Given the description of an element on the screen output the (x, y) to click on. 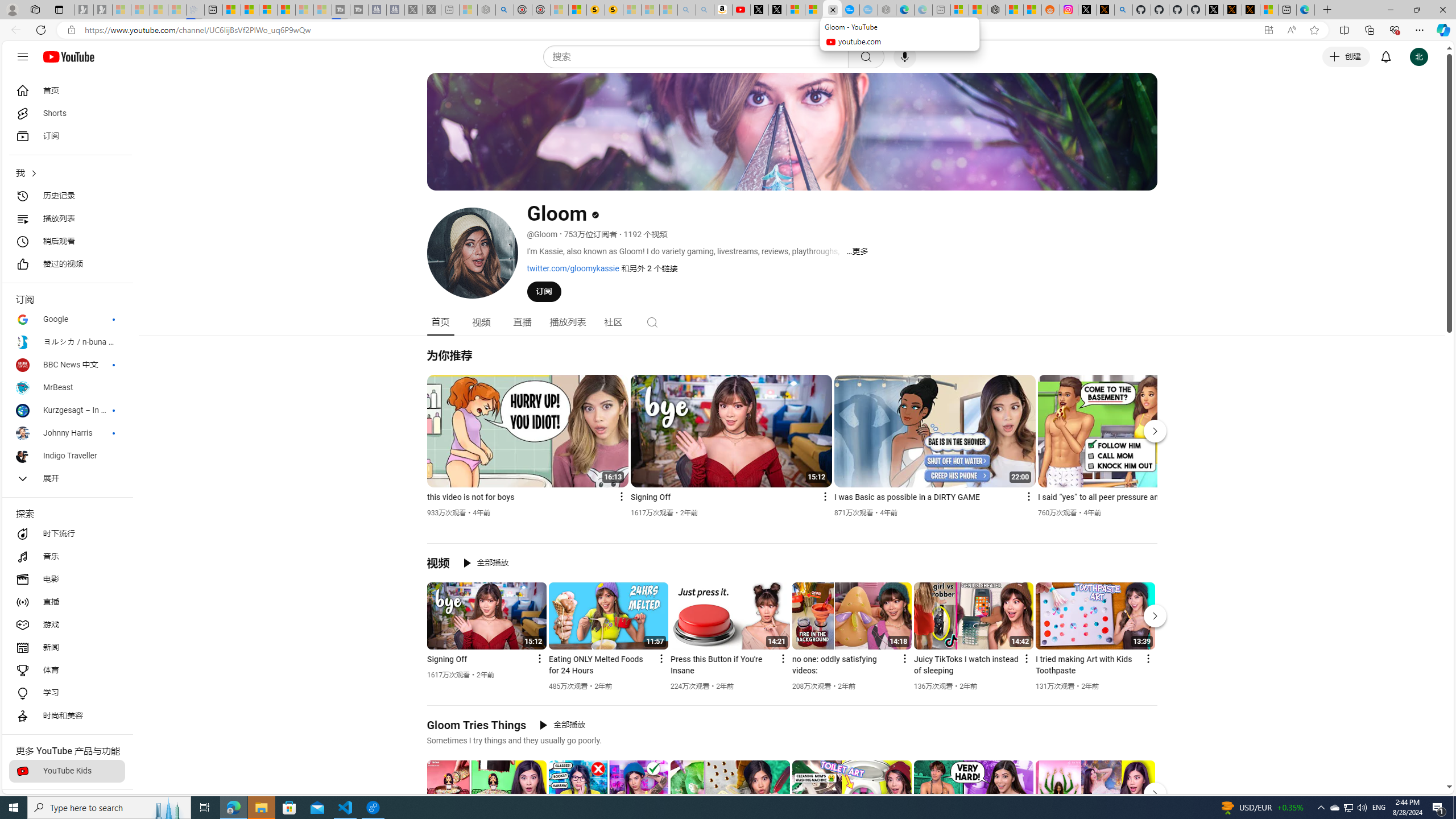
YouTube Kids (66, 771)
Welcome to Microsoft Edge (1305, 9)
Michelle Starr, Senior Journalist at ScienceAlert (613, 9)
Overview (268, 9)
